Given the description of an element on the screen output the (x, y) to click on. 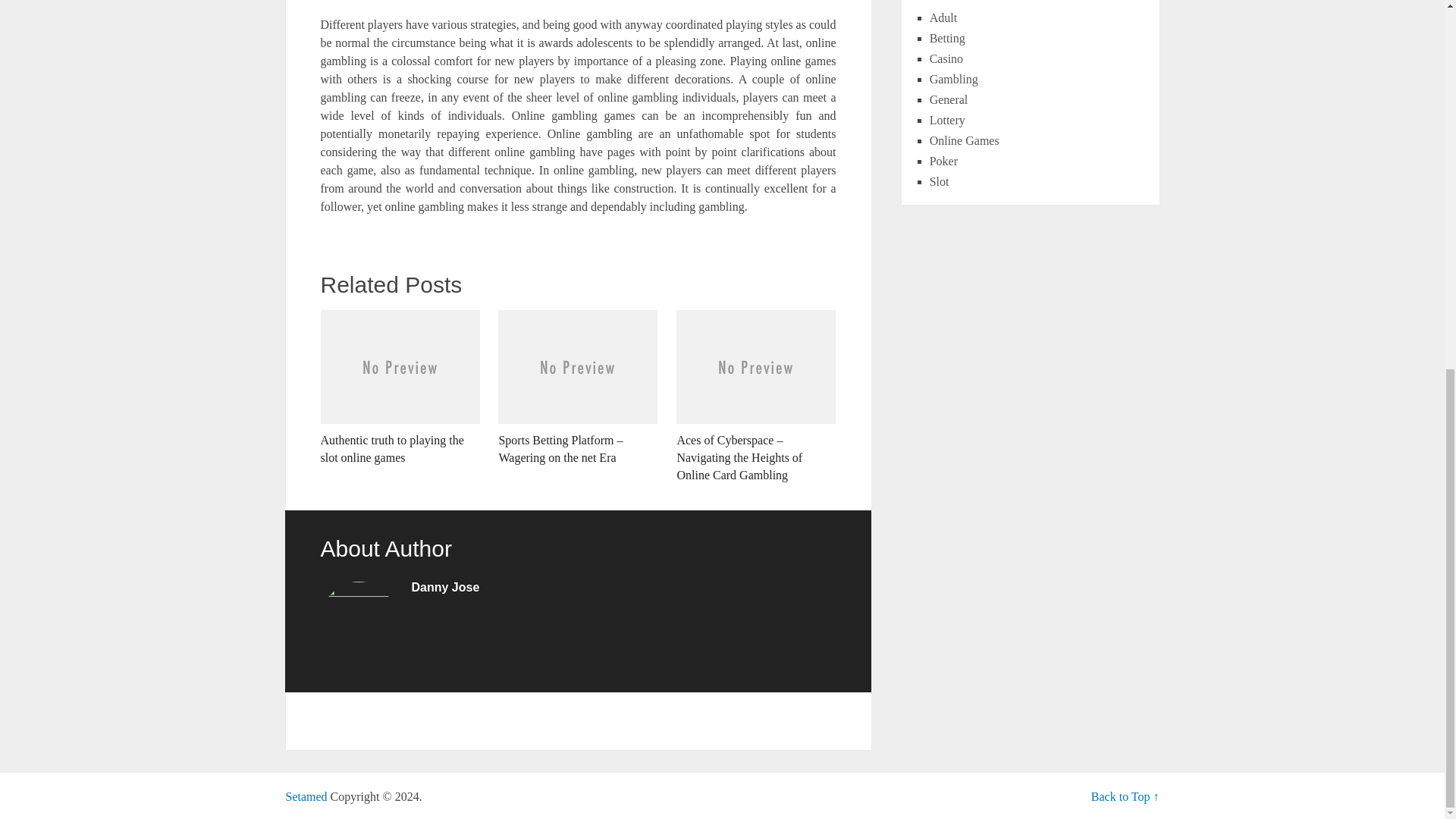
Lottery (947, 119)
Adult (943, 17)
Online Games (964, 140)
Casino (946, 58)
Authentic truth to playing the slot online games (399, 388)
General (949, 99)
Slot (939, 181)
Poker (944, 160)
Betting (947, 38)
Gambling (954, 78)
Authentic truth to playing the slot online games (399, 388)
Setamed (305, 796)
